Given the description of an element on the screen output the (x, y) to click on. 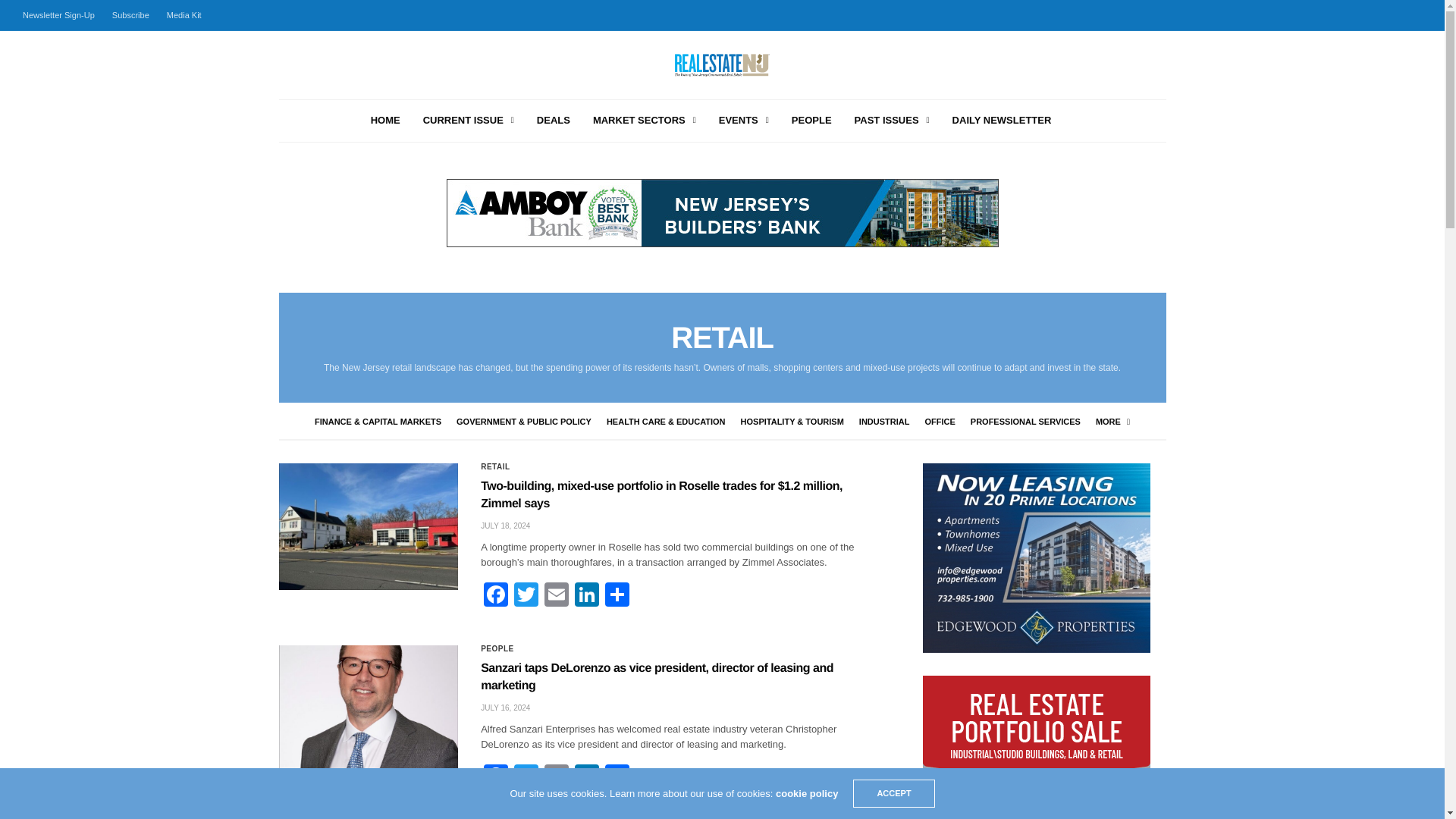
EVENTS (743, 120)
Twitter (526, 596)
Email (556, 596)
Subscribe (130, 15)
PAST ISSUES (892, 120)
CURRENT ISSUE (468, 120)
DEALS (553, 120)
Office (939, 420)
LinkedIn (587, 596)
Professional Services (1025, 420)
Newsletter Sign-Up (62, 15)
Media Kit (183, 15)
Facebook (495, 596)
PEOPLE (811, 120)
MARKET SECTORS (643, 120)
